Given the description of an element on the screen output the (x, y) to click on. 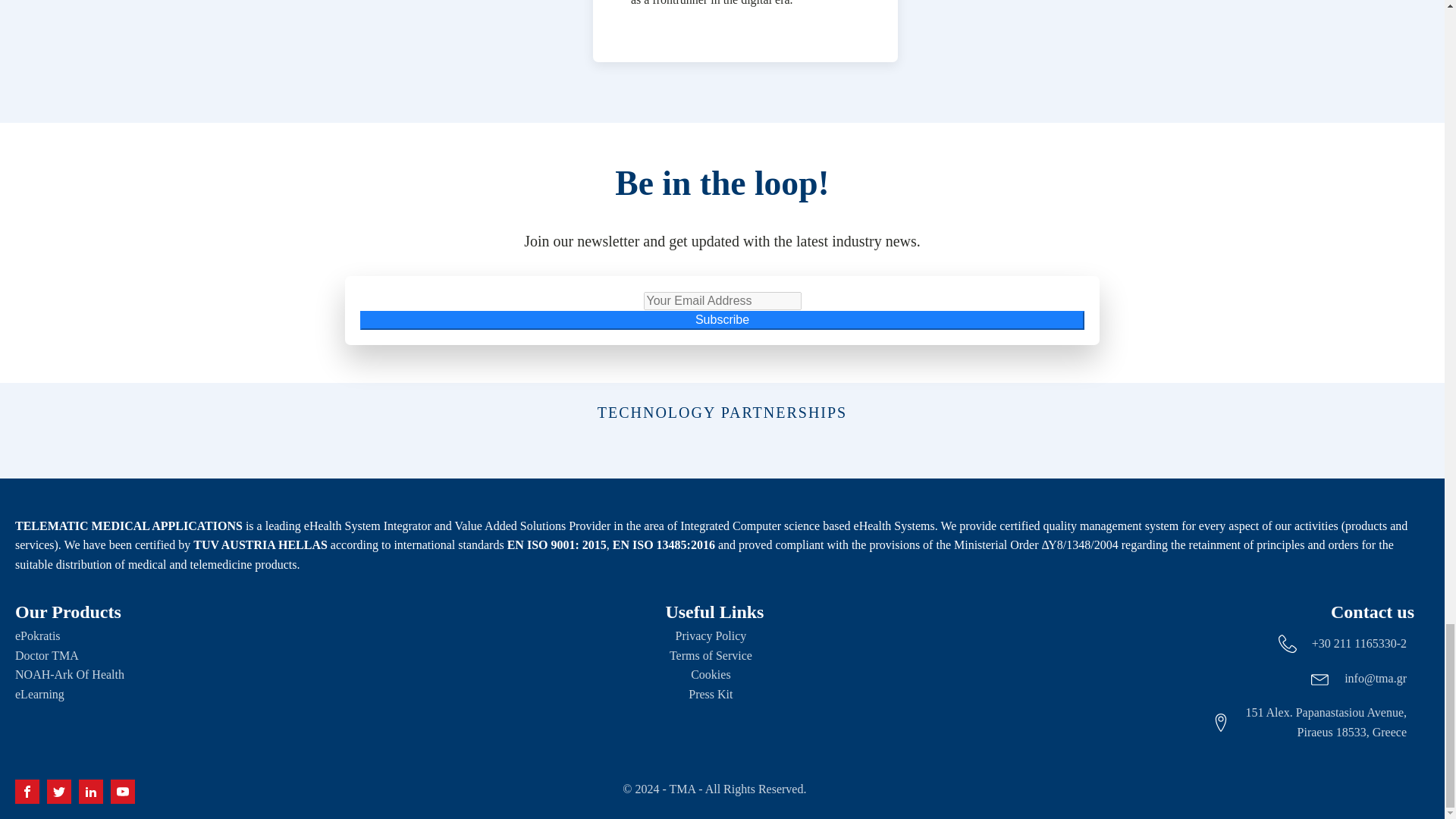
eLearning (39, 694)
Doctor TMA (46, 655)
Subscribe (721, 320)
Cookies (714, 674)
Terms of Service (714, 655)
Press Kit (713, 694)
NOAH-Ark Of Health (68, 674)
ePokratis (37, 636)
Privacy Policy (714, 636)
